Given the description of an element on the screen output the (x, y) to click on. 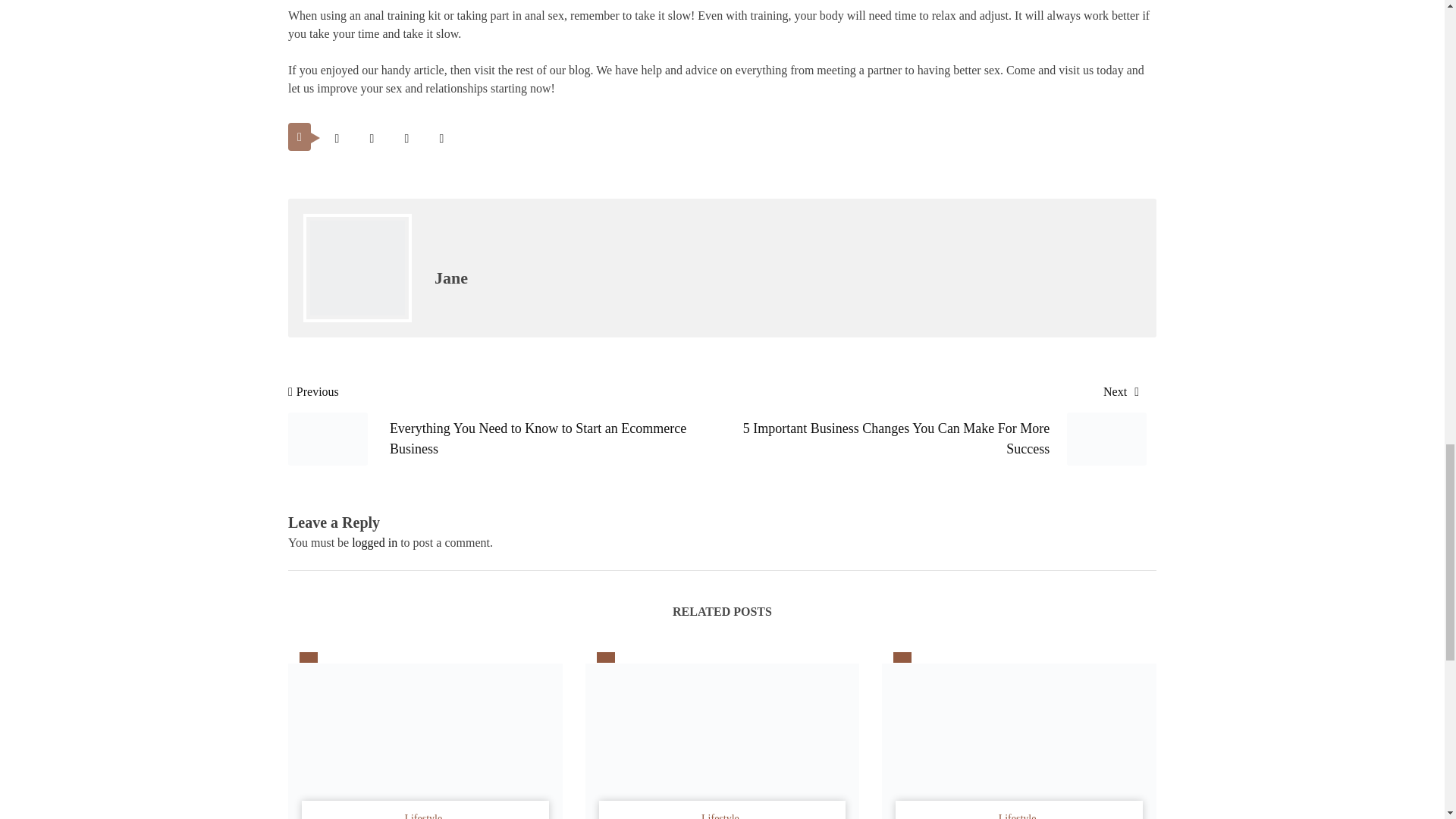
Share on Pinterest (406, 138)
Tweet This! (336, 138)
Share on Linkedin (441, 138)
Share on Facebook (371, 138)
